Given the description of an element on the screen output the (x, y) to click on. 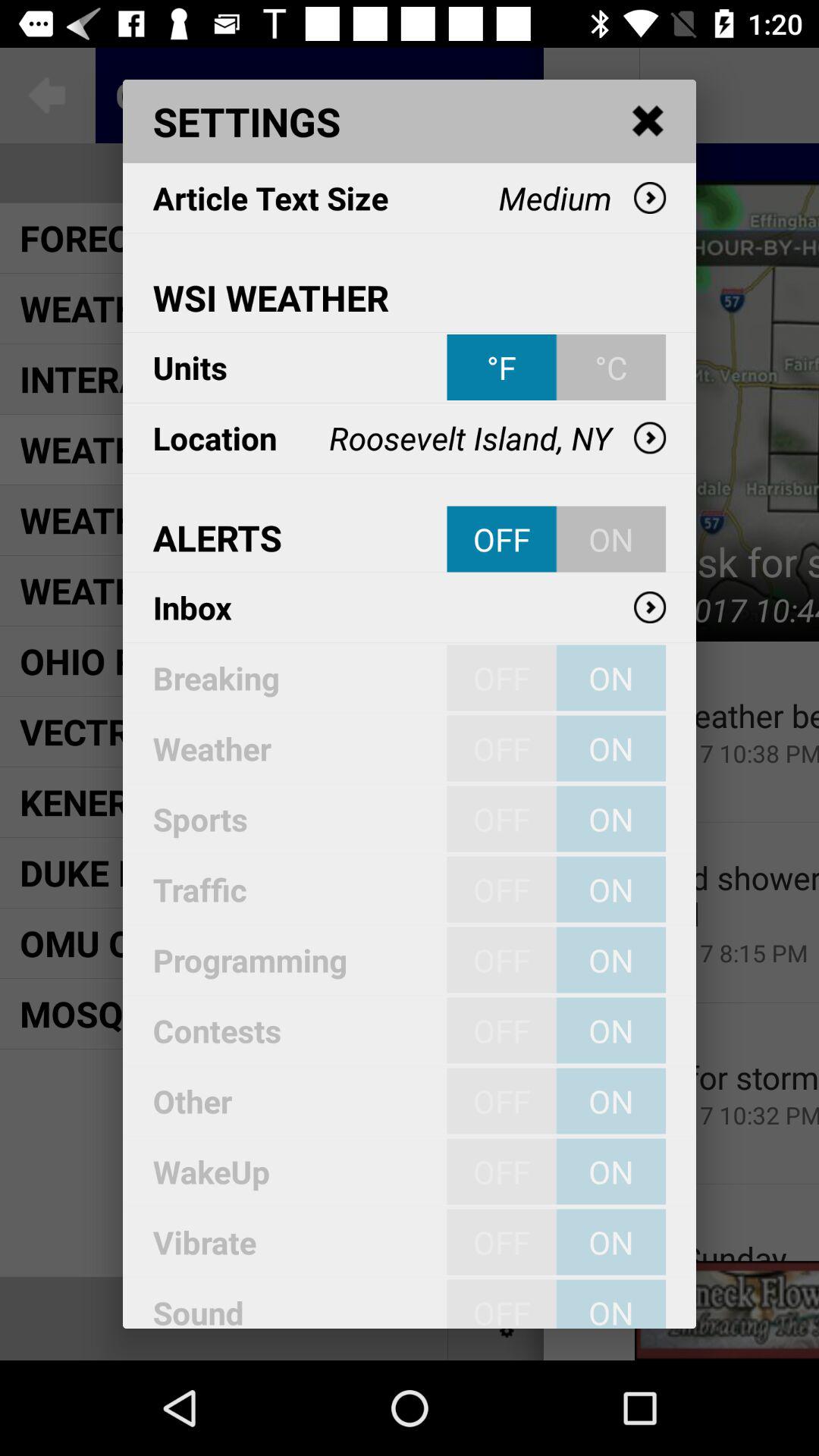
select item above the medium  item (648, 121)
